Given the description of an element on the screen output the (x, y) to click on. 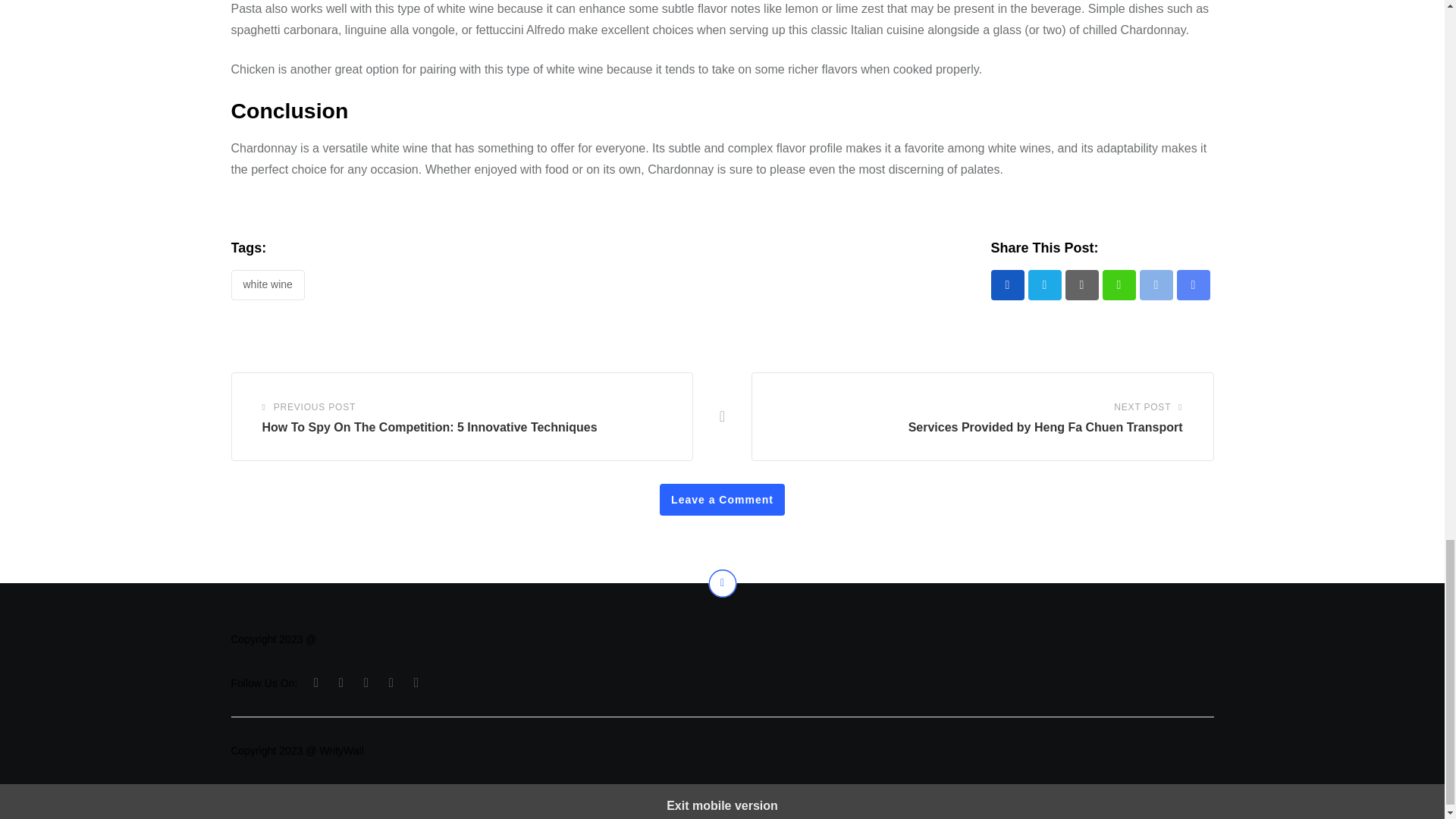
NEXT POST (1141, 406)
Pinterest (1080, 285)
Print (1155, 285)
Share via Email (1192, 285)
How To Spy On The Competition: 5 Innovative Techniques (429, 427)
Services Provided by Heng Fa Chuen Transport (1045, 427)
white wine (267, 285)
Leave a Comment (721, 499)
PREVIOUS POST (314, 406)
Whatsapp (1118, 285)
